Given the description of an element on the screen output the (x, y) to click on. 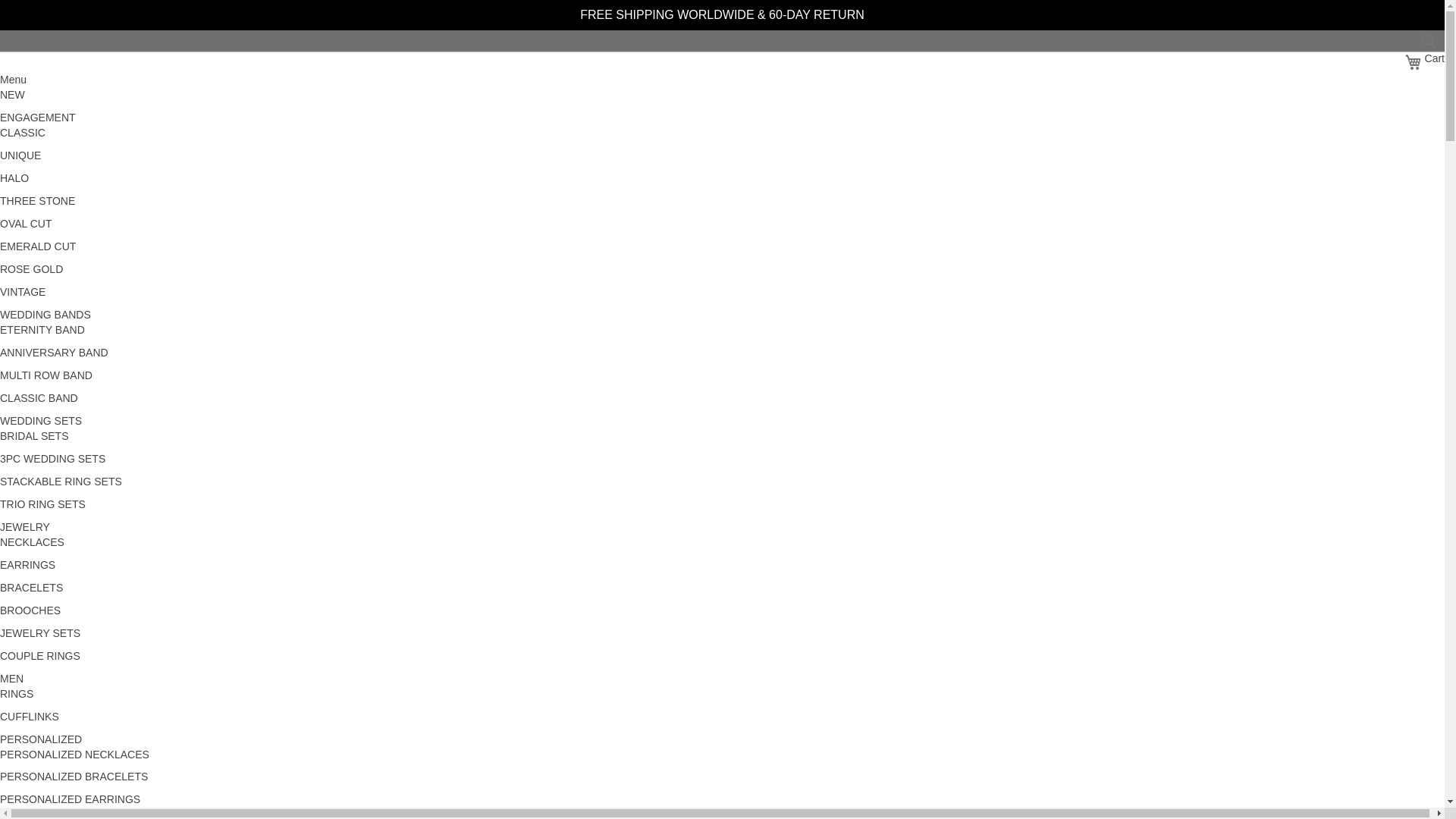
EARRINGS (27, 564)
STACKABLE RING SETS (61, 481)
TRIO RING SETS (42, 503)
CLASSIC BAND (39, 398)
VINTAGE (22, 291)
Menu (13, 79)
JEWELRY (1424, 61)
JEWELRY SETS (24, 526)
ROSE GOLD (40, 633)
